Given the description of an element on the screen output the (x, y) to click on. 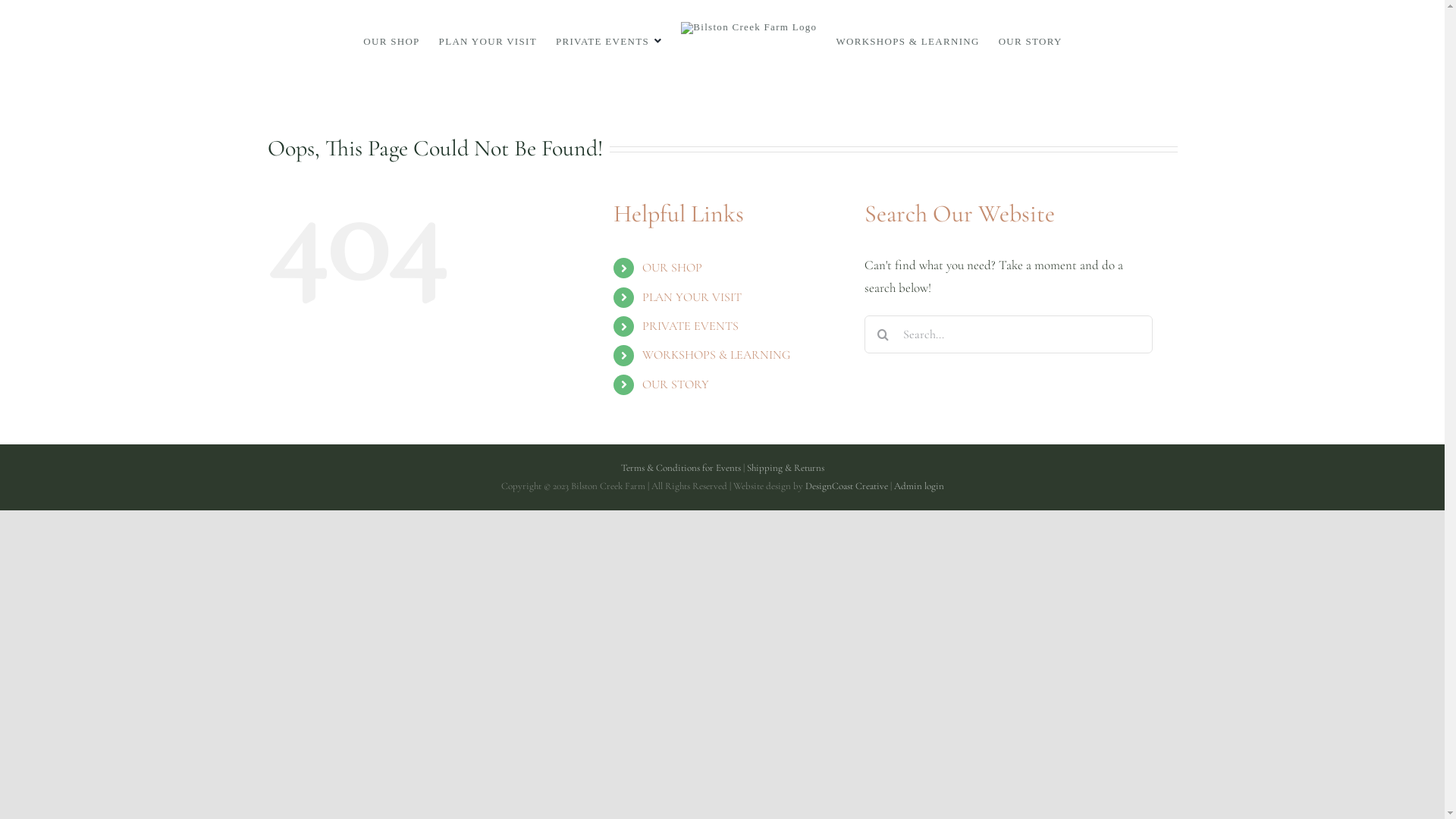
PRIVATE EVENTS Element type: text (608, 40)
DesignCoast Creative Element type: text (846, 486)
PLAN YOUR VISIT Element type: text (487, 40)
OUR SHOP Element type: text (391, 40)
Terms & Conditions for Events Element type: text (680, 467)
PLAN YOUR VISIT Element type: text (691, 296)
WORKSHOPS & LEARNING Element type: text (716, 354)
OUR STORY Element type: text (675, 384)
PRIVATE EVENTS Element type: text (690, 325)
OUR STORY Element type: text (1030, 40)
WORKSHOPS & LEARNING Element type: text (907, 40)
OUR SHOP Element type: text (672, 267)
Admin login Element type: text (918, 486)
Shipping & Returns Element type: text (784, 467)
